Given the description of an element on the screen output the (x, y) to click on. 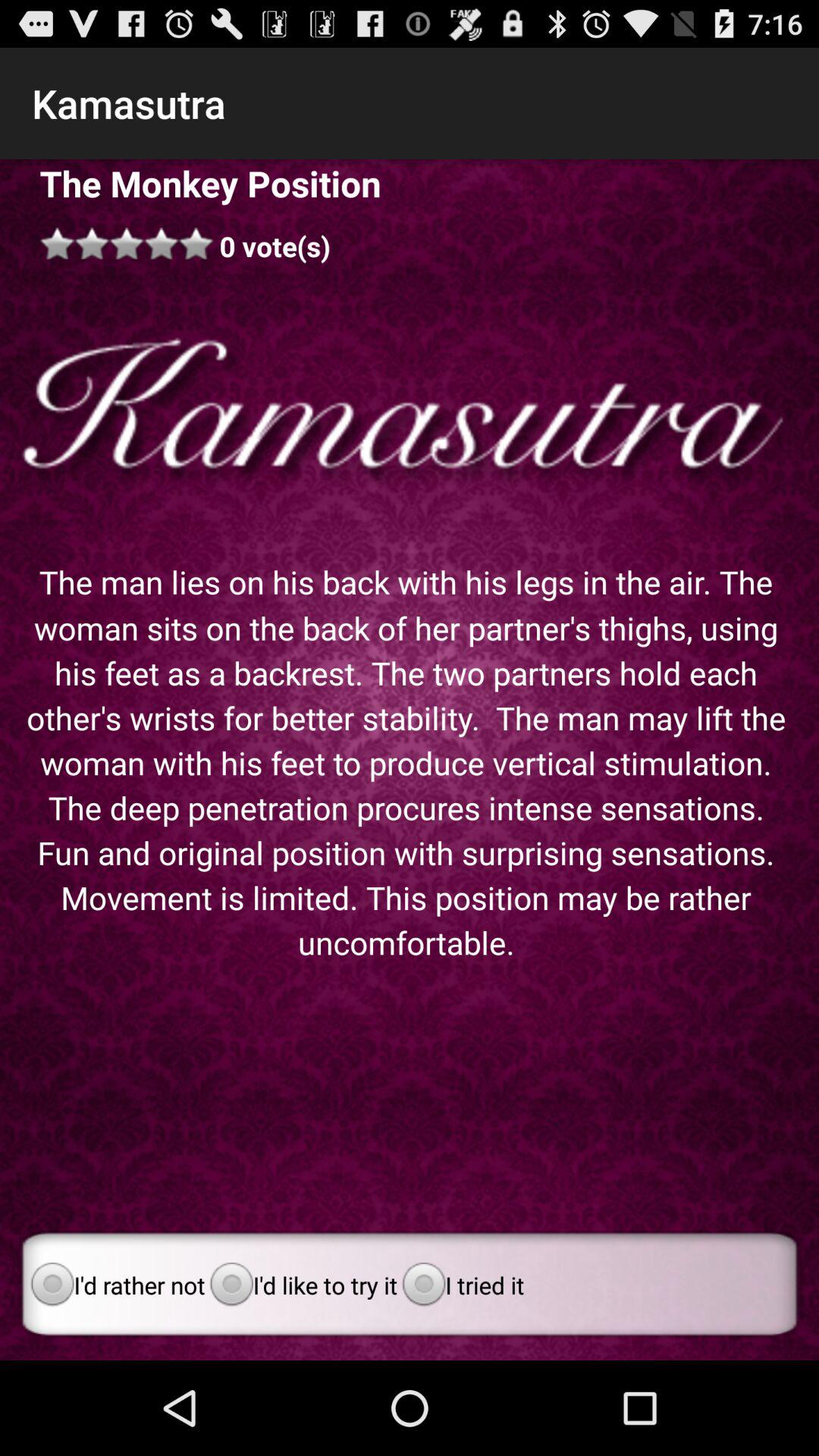
press the item above the man lies app (409, 412)
